Given the description of an element on the screen output the (x, y) to click on. 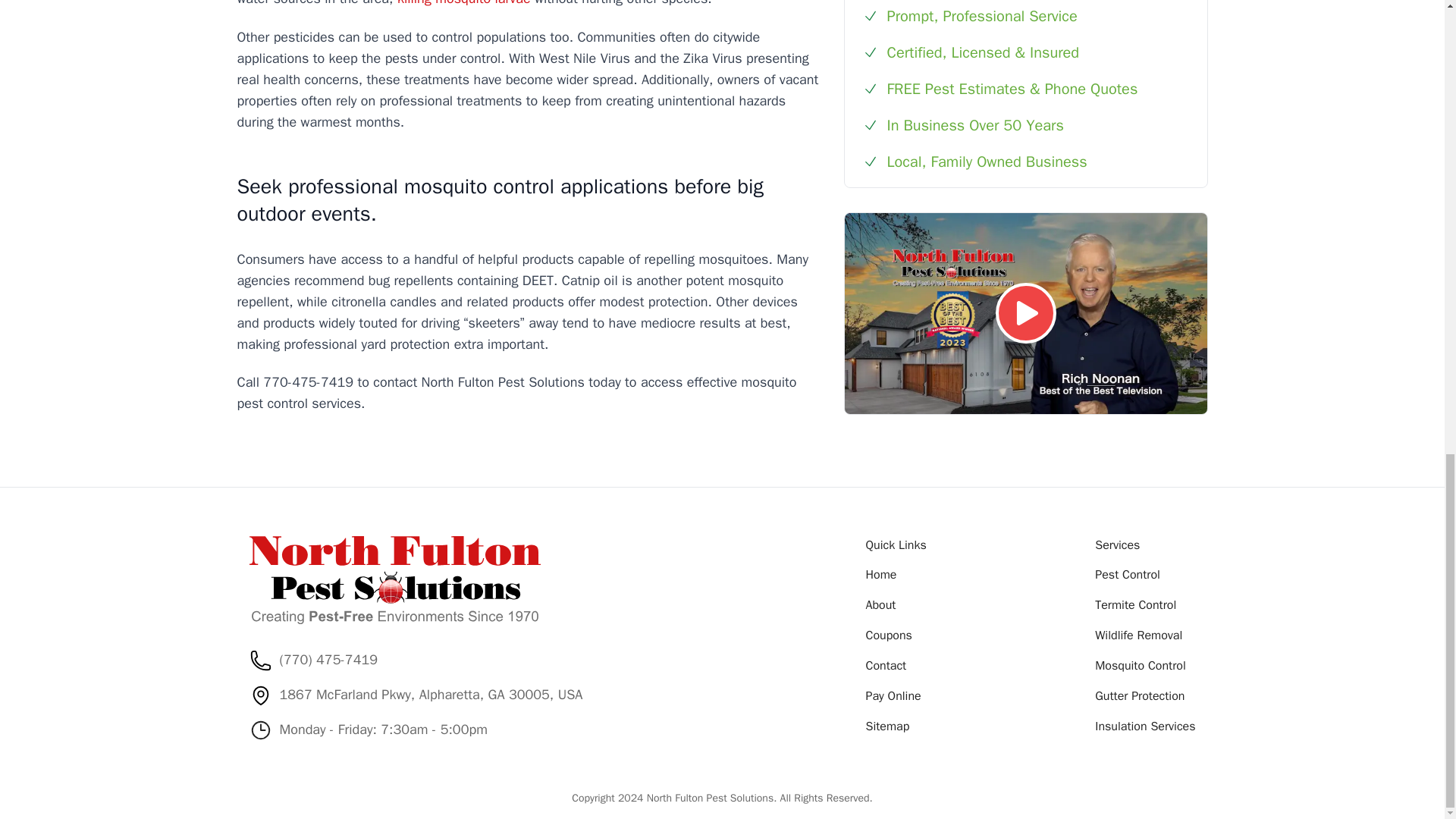
About (881, 604)
Coupons (889, 635)
Pest Control (1127, 574)
Gutter Protection (1139, 695)
Insulation Services (1144, 726)
1867 McFarland Pkwy, Alpharetta, GA 30005, USA (430, 694)
killing mosquito larvae (464, 3)
Mosquito Control (1139, 665)
Sitemap (888, 726)
Wildlife Removal (1138, 635)
Termite Control (1135, 604)
Contact (886, 665)
Pay Online (893, 695)
Home (881, 574)
